Given the description of an element on the screen output the (x, y) to click on. 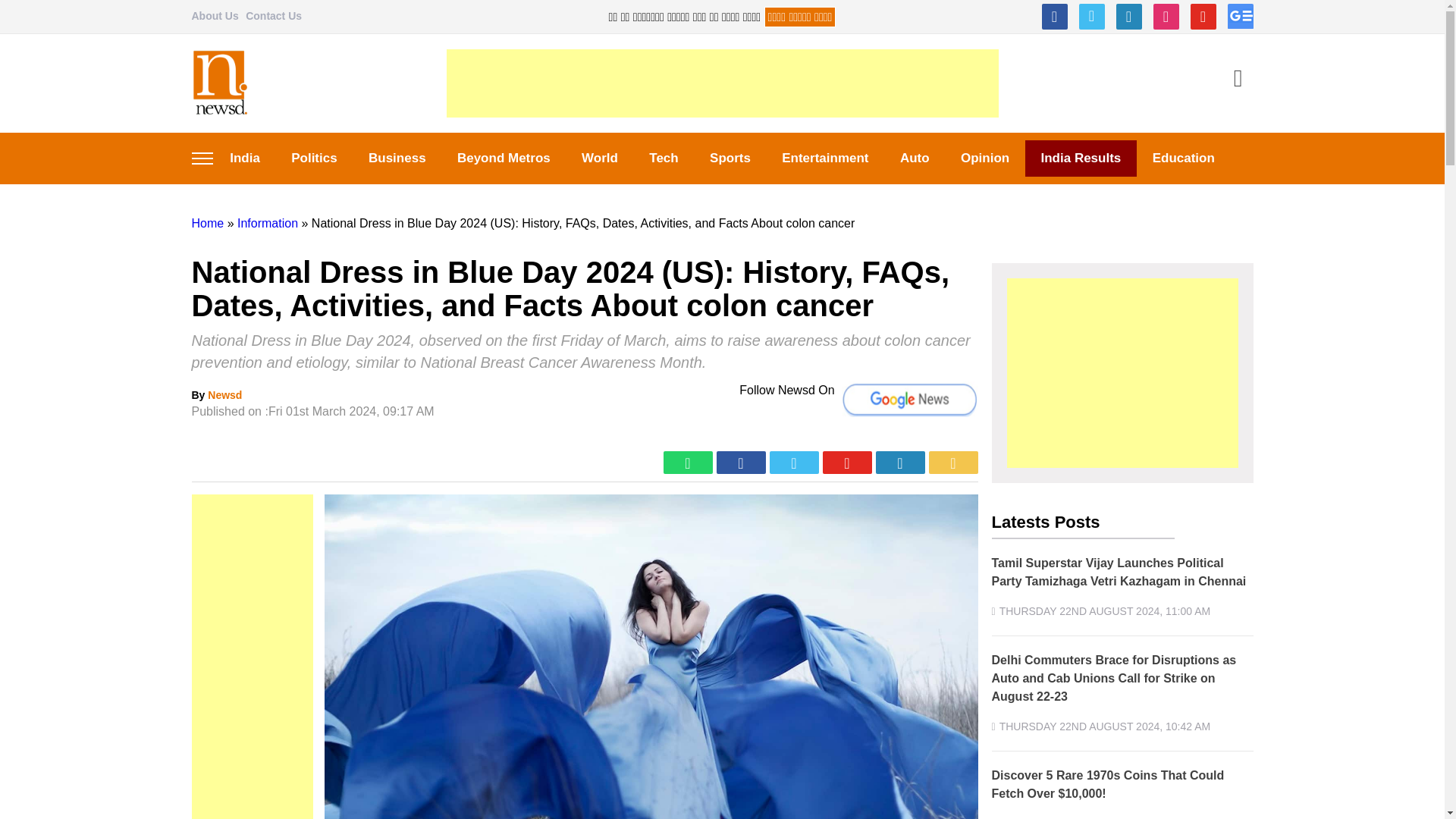
About Us (214, 15)
Home (207, 223)
Entertainment (826, 158)
Google Follow (1239, 16)
Search (1237, 79)
Twitter (1090, 16)
Facebook (1054, 16)
Instagram (1165, 16)
Newsd (224, 395)
India Results (1081, 158)
